Given the description of an element on the screen output the (x, y) to click on. 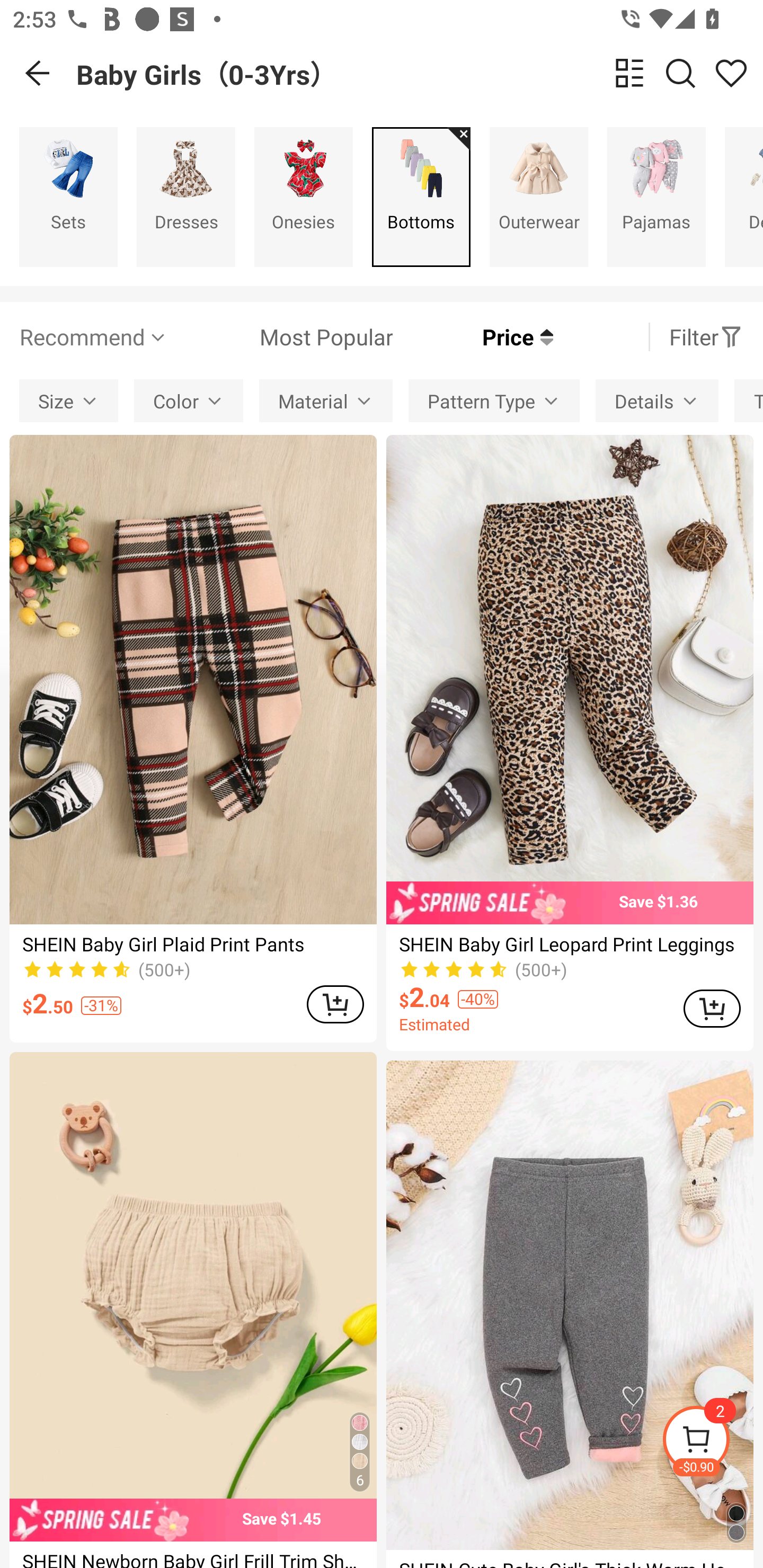
Baby Girls（0-3Yrs） change view Search Share (419, 72)
change view (629, 72)
Search (679, 72)
Share (730, 72)
Sets (68, 196)
Dresses (185, 196)
Onesies (303, 196)
Bottoms (421, 196)
Outerwear (538, 196)
Pajamas (656, 196)
Recommend (93, 336)
Most Popular (280, 336)
Price (472, 336)
Filter (705, 336)
Size (68, 400)
Color (188, 400)
Material (325, 400)
Pattern Type (493, 400)
Details (656, 400)
ADD TO CART (334, 1003)
ADD TO CART (711, 1008)
-$0.90 (712, 1441)
